Given the description of an element on the screen output the (x, y) to click on. 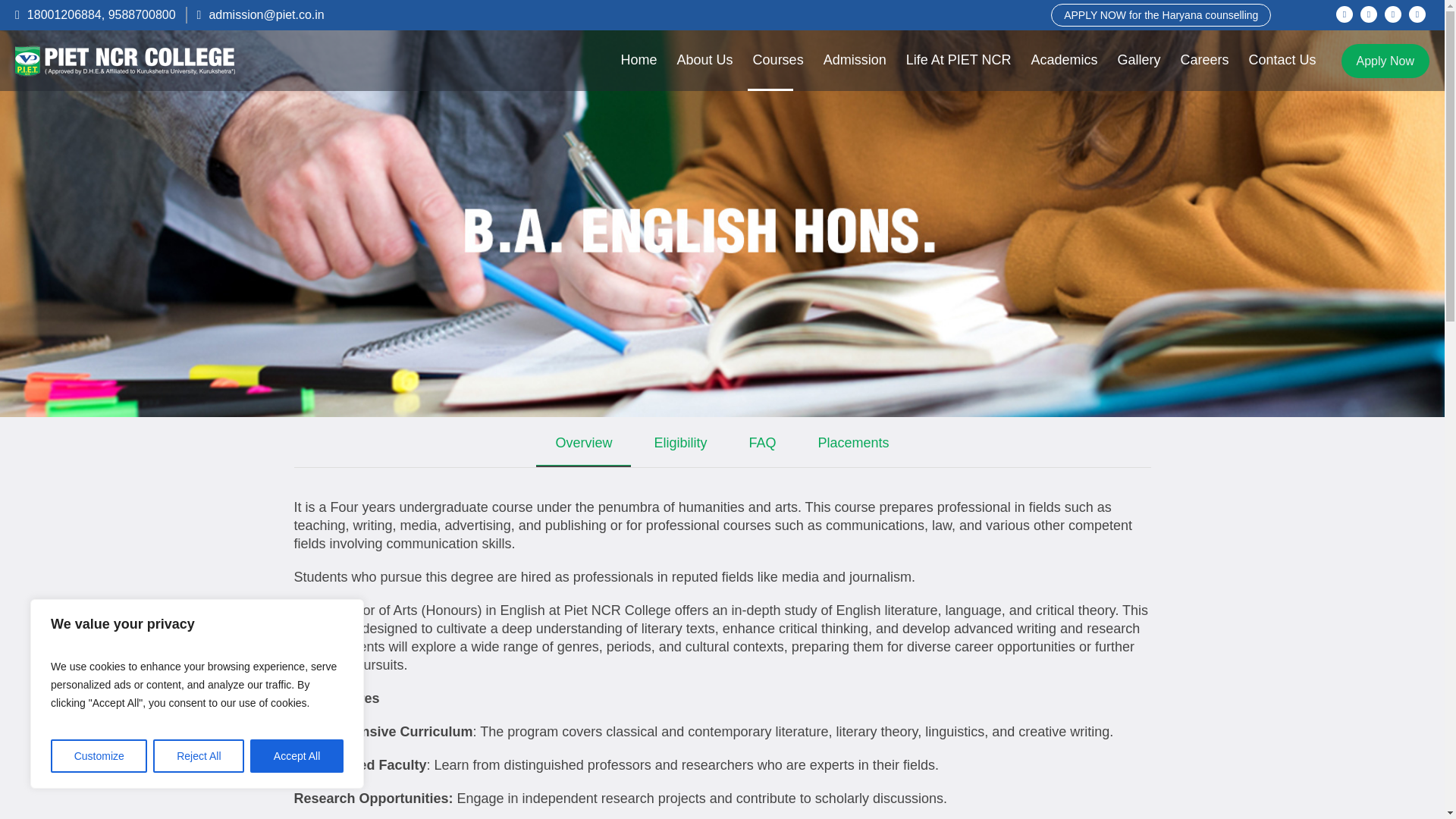
9588700800 (141, 14)
Home (638, 60)
Facebook (1344, 13)
Reject All (198, 756)
Instagram (1368, 13)
Twitter (1392, 13)
18001206884, (67, 14)
Apply Now (1384, 60)
Accept All (296, 756)
Customize (98, 756)
About Us (704, 60)
Courses (777, 60)
YouTube (1417, 13)
